Given the description of an element on the screen output the (x, y) to click on. 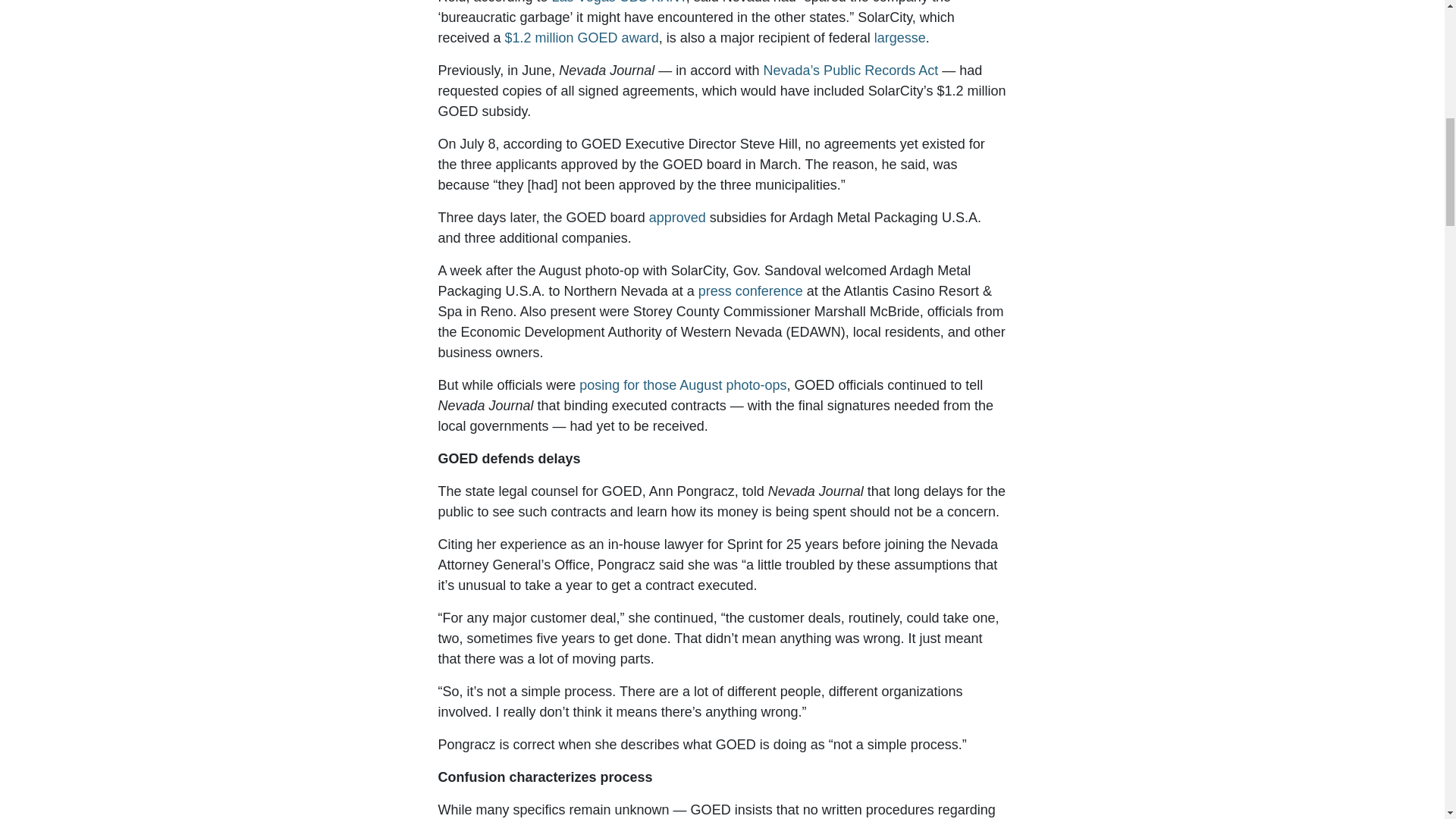
Las Vegas CBS KXNT (618, 2)
largesse (900, 37)
